Given the description of an element on the screen output the (x, y) to click on. 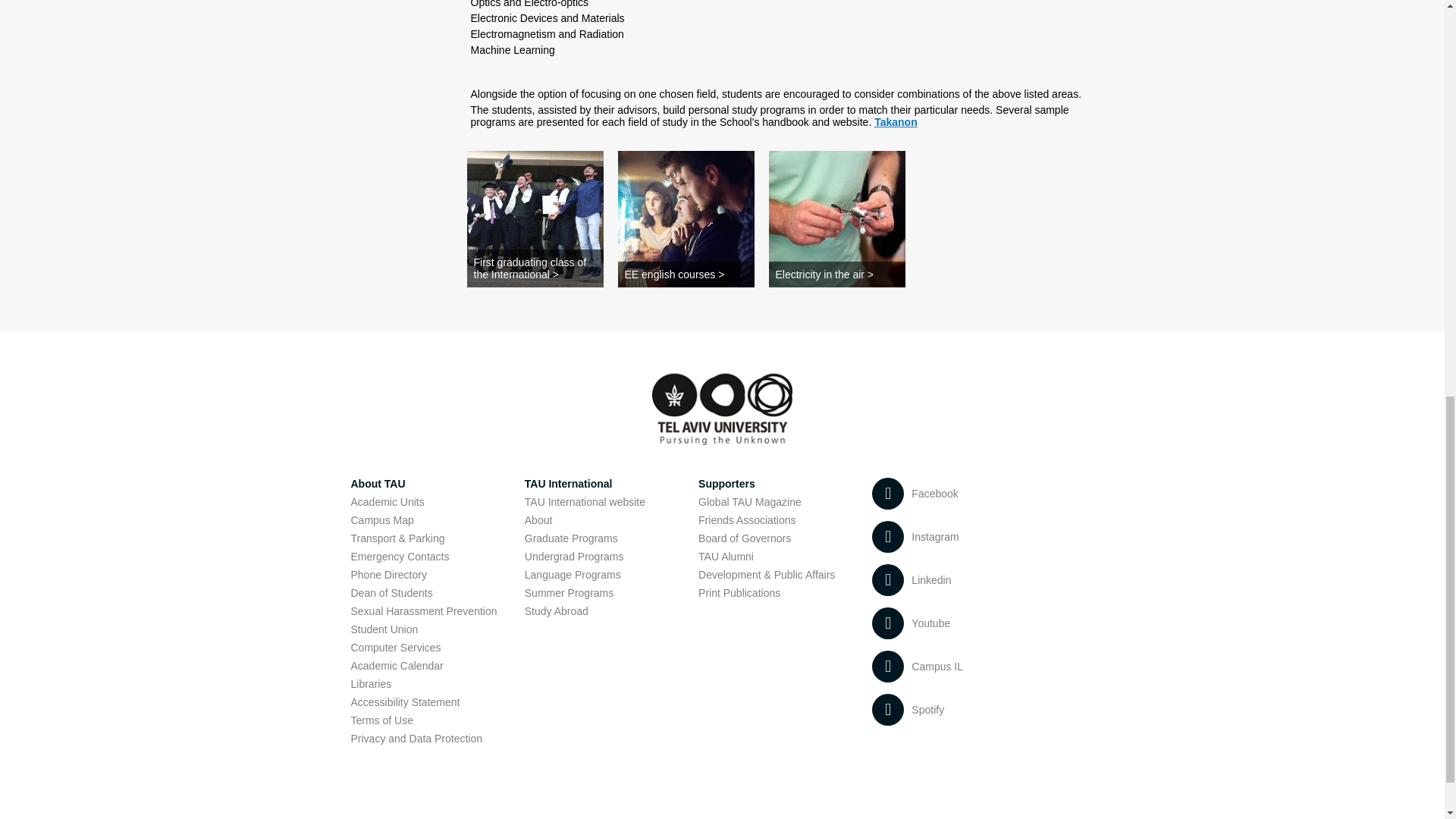
EE english courses (685, 218)
First graduating class of the International program  (535, 218)
Electricity in the air (836, 218)
